Given the description of an element on the screen output the (x, y) to click on. 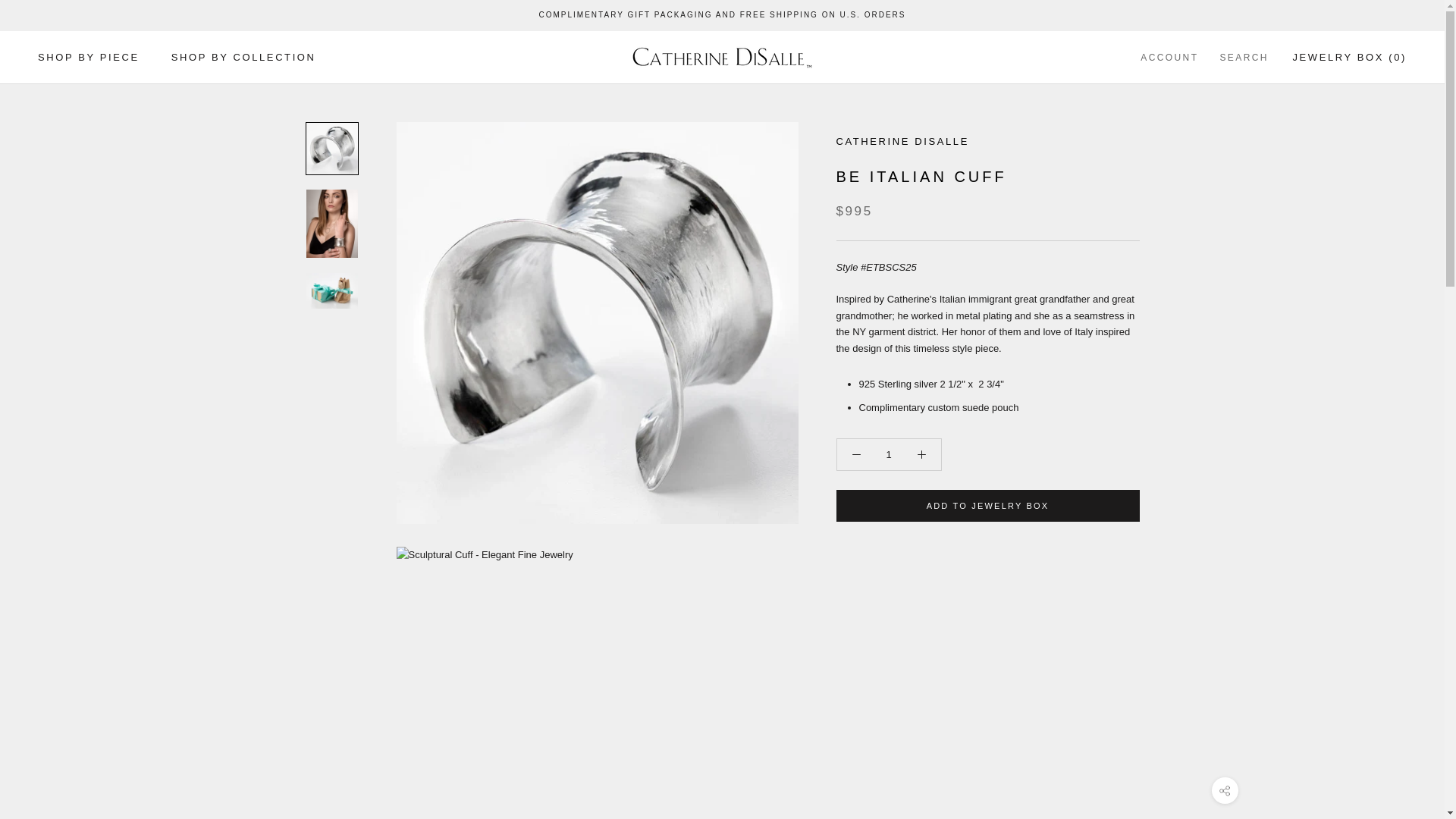
SHOP BY COLLECTION (243, 57)
ACCOUNT (1169, 58)
SHOP BY PIECE (88, 57)
1 (888, 454)
SEARCH (1244, 58)
